Given the description of an element on the screen output the (x, y) to click on. 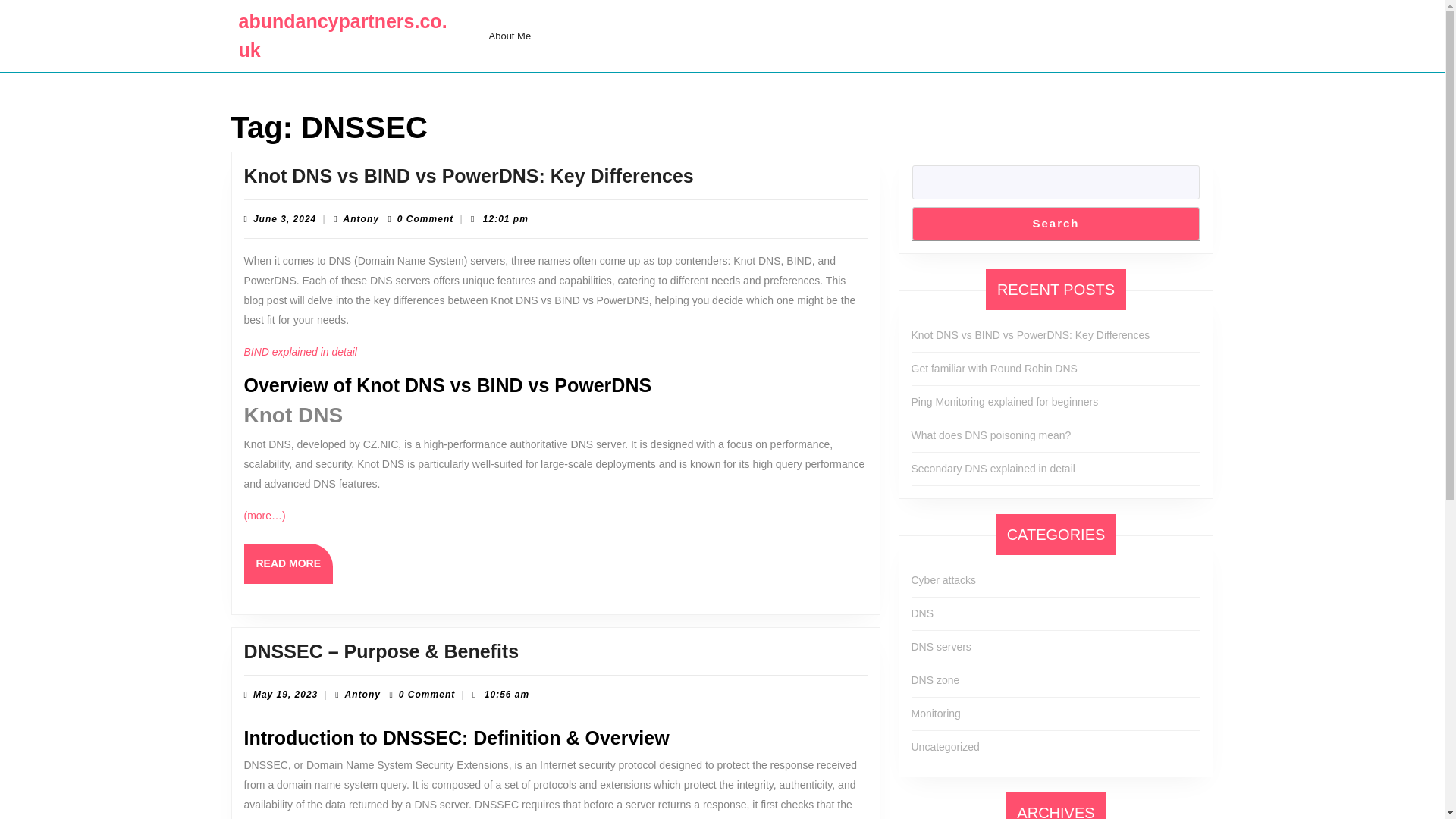
DNS (922, 613)
Secondary DNS explained in detail (993, 468)
Get familiar with Round Robin DNS (994, 368)
BIND explained in detail (468, 768)
Search (488, 374)
Knot DNS vs BIND vs PowerDNS: Key Differences (1055, 223)
abundancypartners.co.uk (466, 474)
Uncategorized (442, 770)
DNS servers (1030, 335)
DNS zone (342, 35)
